Given the description of an element on the screen output the (x, y) to click on. 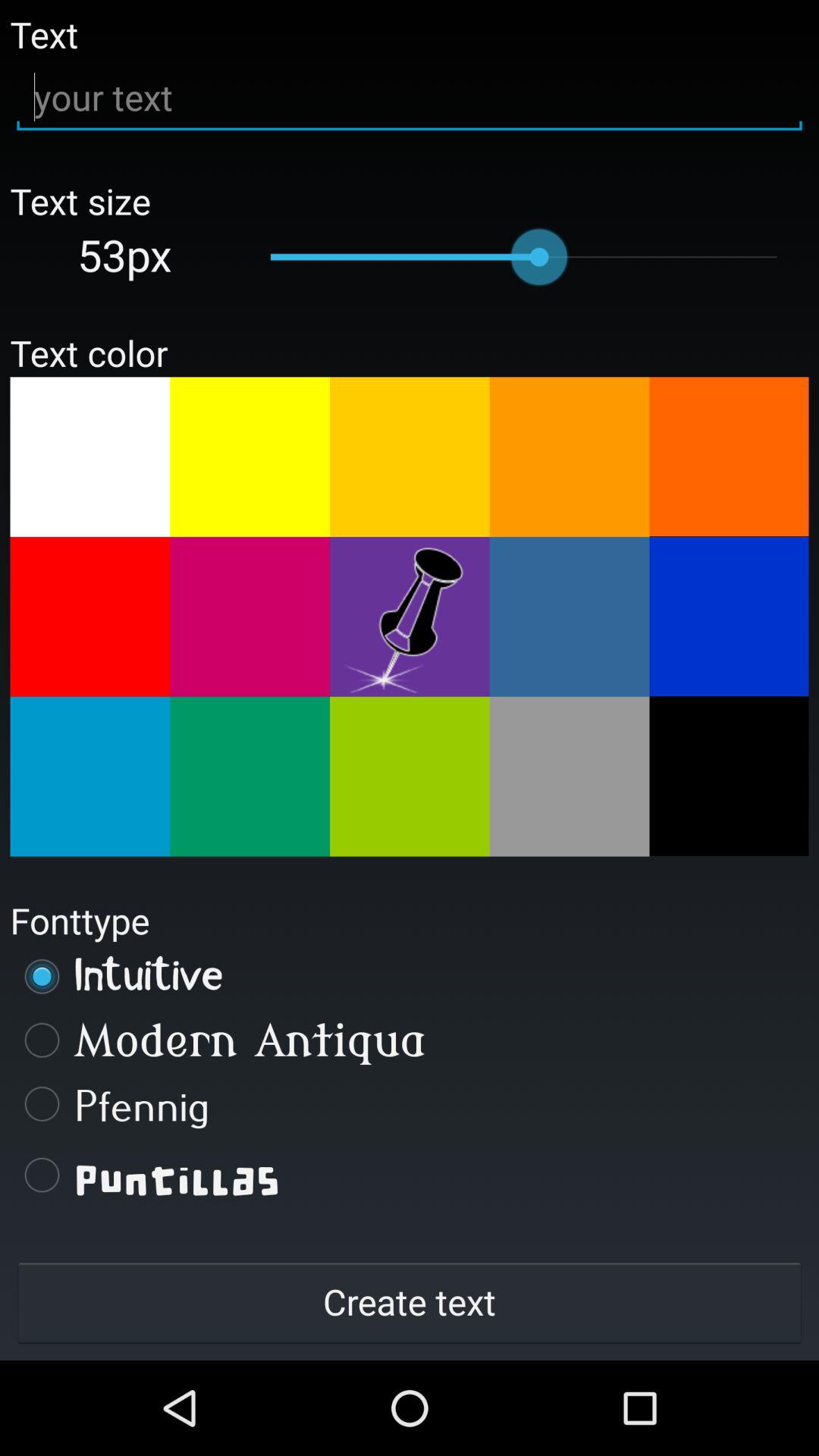
select text color (728, 775)
